Given the description of an element on the screen output the (x, y) to click on. 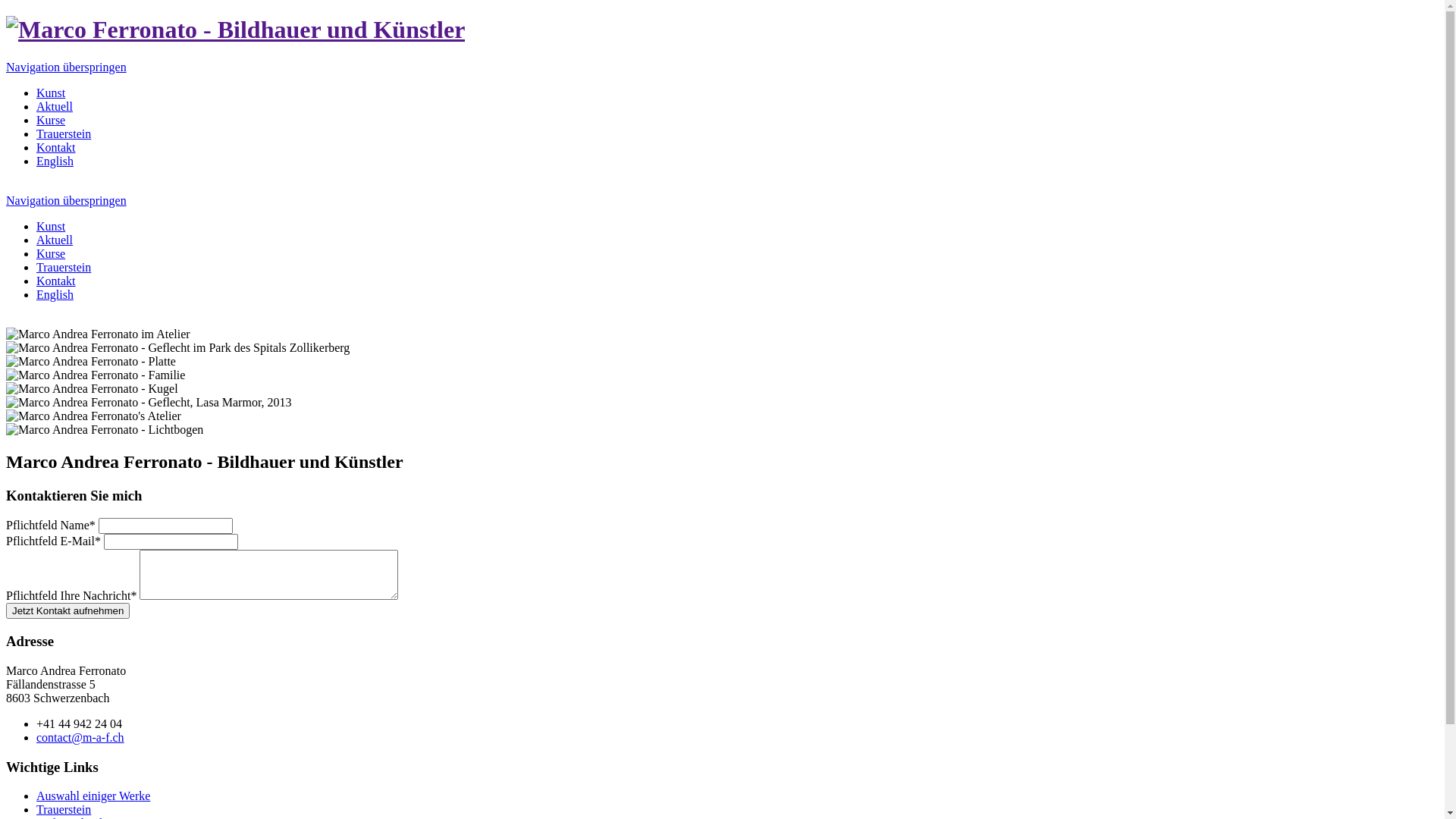
Geflecht, Lasa Marmor, 2013 Element type: hover (722, 402)
Trauerstein Element type: text (63, 266)
Jetzt Kontakt aufnehmen Element type: text (67, 610)
Trauerstein Element type: text (63, 133)
Aktuell Element type: text (54, 106)
Kunst Element type: text (50, 92)
Auswahl einiger Werke Element type: text (93, 795)
Kurse Element type: text (50, 253)
Kontakt Element type: text (55, 280)
Kontakt Element type: text (55, 147)
Aktuell Element type: text (54, 239)
English Element type: text (54, 294)
Kunst Element type: text (50, 225)
Trauerstein Element type: text (63, 809)
contact@m-a-f.ch Element type: text (80, 737)
English Element type: text (54, 160)
Kurse Element type: text (50, 119)
  Element type: text (7, 319)
  Element type: text (7, 186)
